Given the description of an element on the screen output the (x, y) to click on. 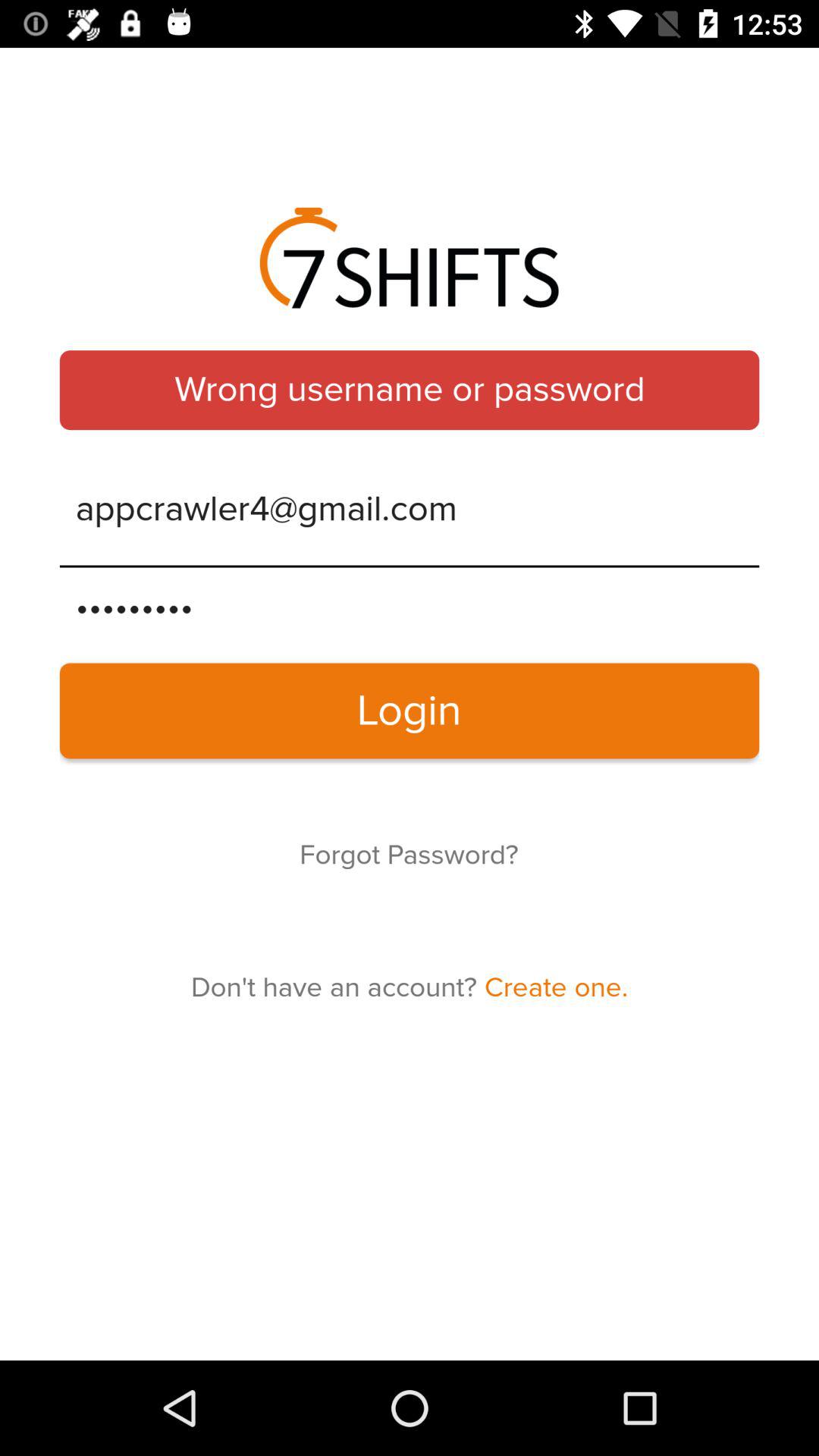
open forgot password? item (408, 854)
